Given the description of an element on the screen output the (x, y) to click on. 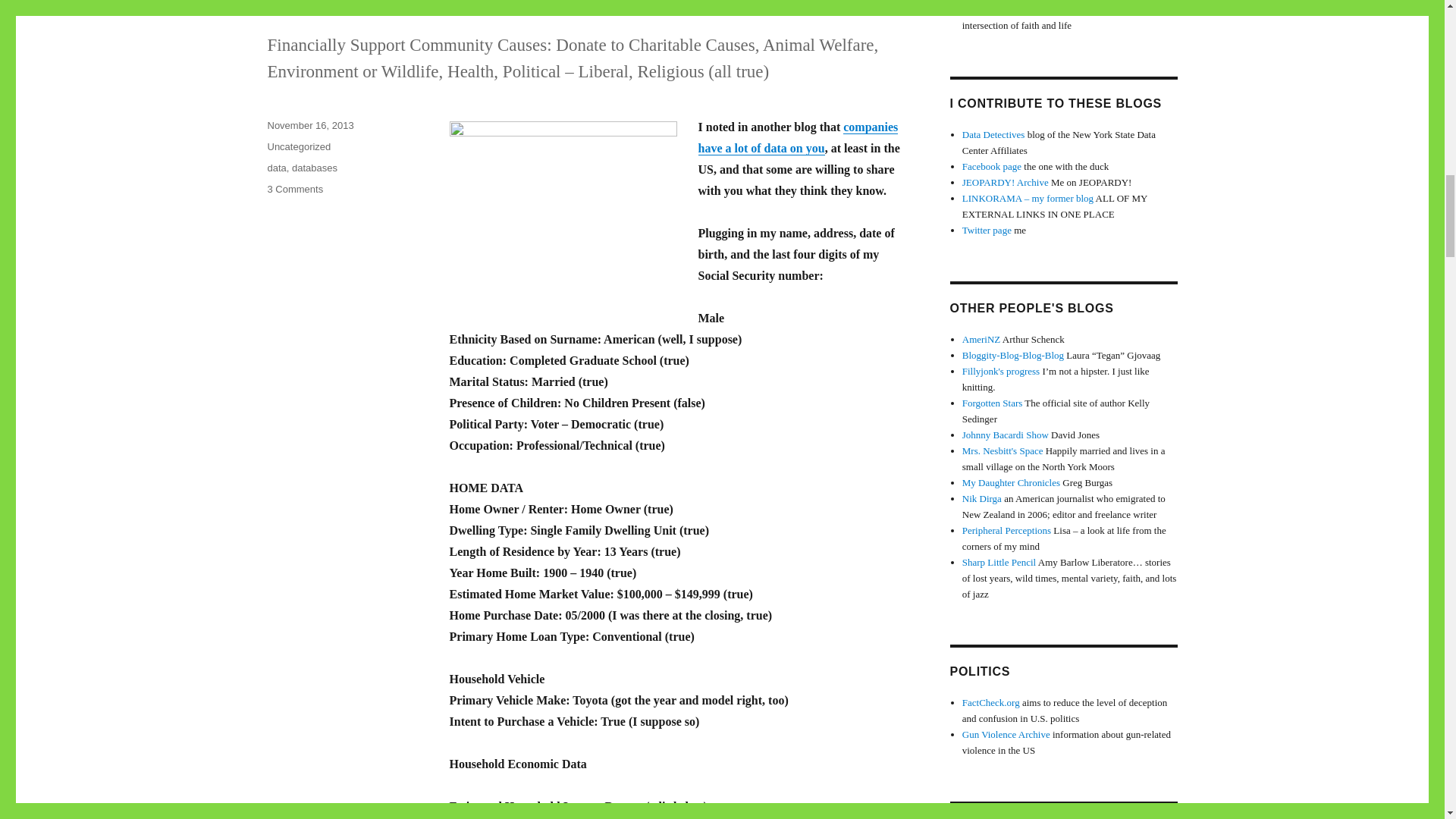
November 16, 2013 (309, 125)
databases (314, 167)
companies have a lot of data on you (797, 137)
data (275, 167)
The BIG DATA on me (294, 188)
Uncategorized (416, 6)
